Given the description of an element on the screen output the (x, y) to click on. 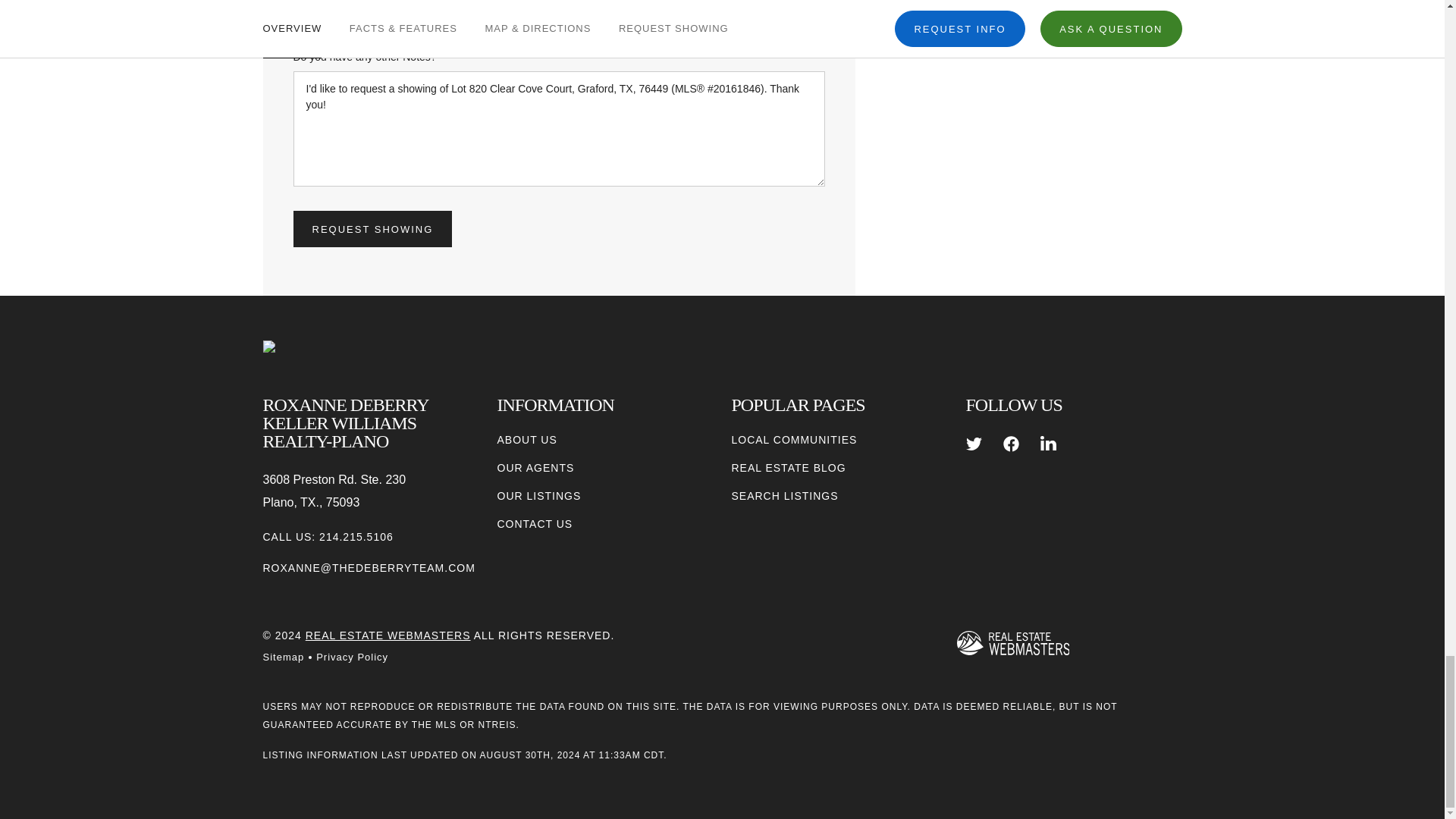
FACEBOOK (1011, 443)
TWITTER (973, 443)
Next Week (627, 12)
LINKEDIN (1049, 443)
This Week (490, 12)
ASAP (352, 12)
